Given the description of an element on the screen output the (x, y) to click on. 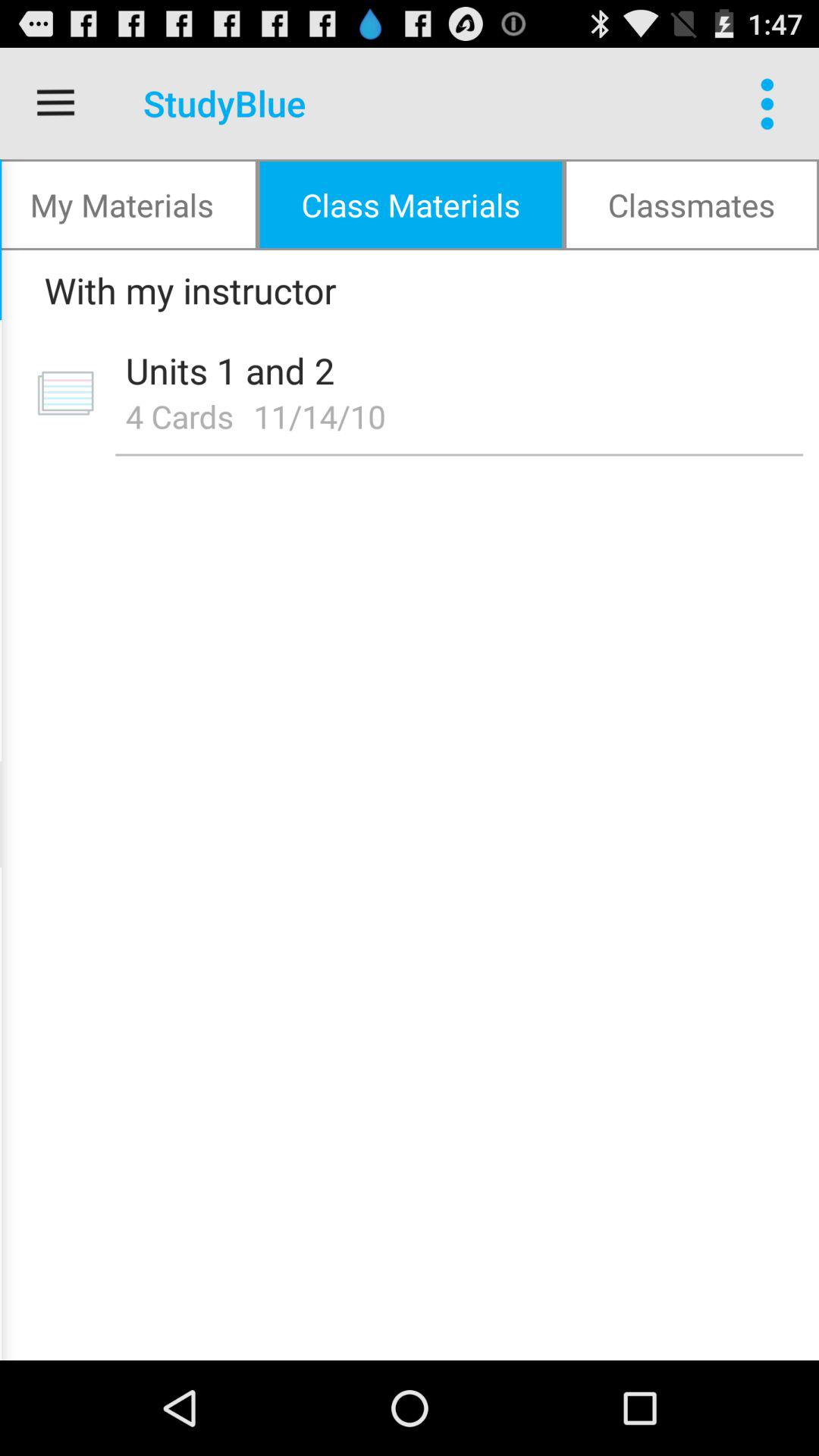
press the icon to the left of 11/14/10 (179, 415)
